Given the description of an element on the screen output the (x, y) to click on. 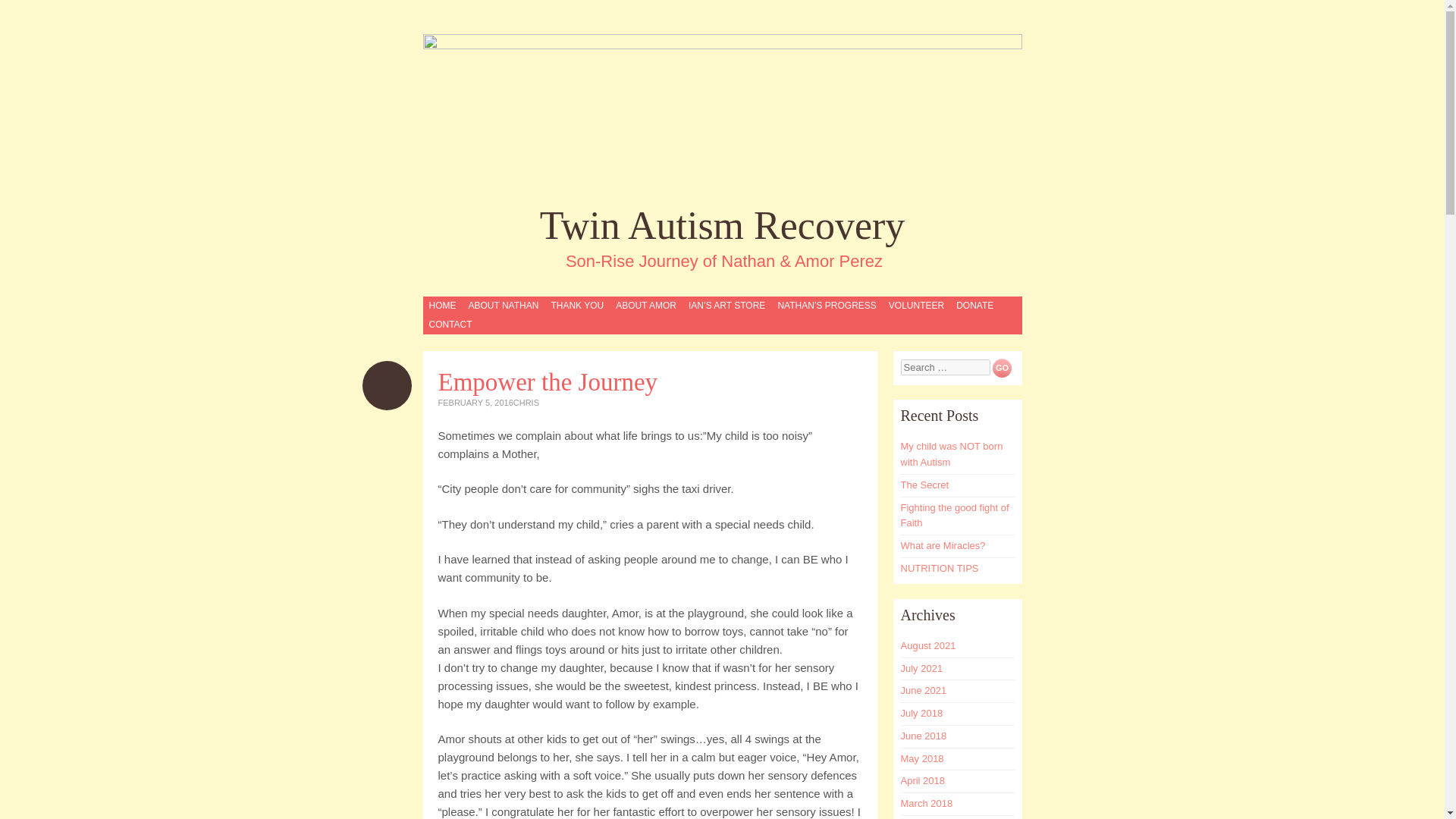
CHRIS (525, 402)
What are Miracles? (943, 545)
Skip to content (469, 304)
5:19 am (475, 402)
Twin Autism Recovery (722, 224)
April 2018 (922, 780)
Fighting the good fight of Faith (955, 515)
March 2018 (927, 803)
ABOUT AMOR (645, 304)
HOME (442, 304)
DONATE (974, 304)
View all posts by chris (525, 402)
ABOUT NATHAN (502, 304)
THANK YOU (577, 304)
July 2018 (922, 713)
